Given the description of an element on the screen output the (x, y) to click on. 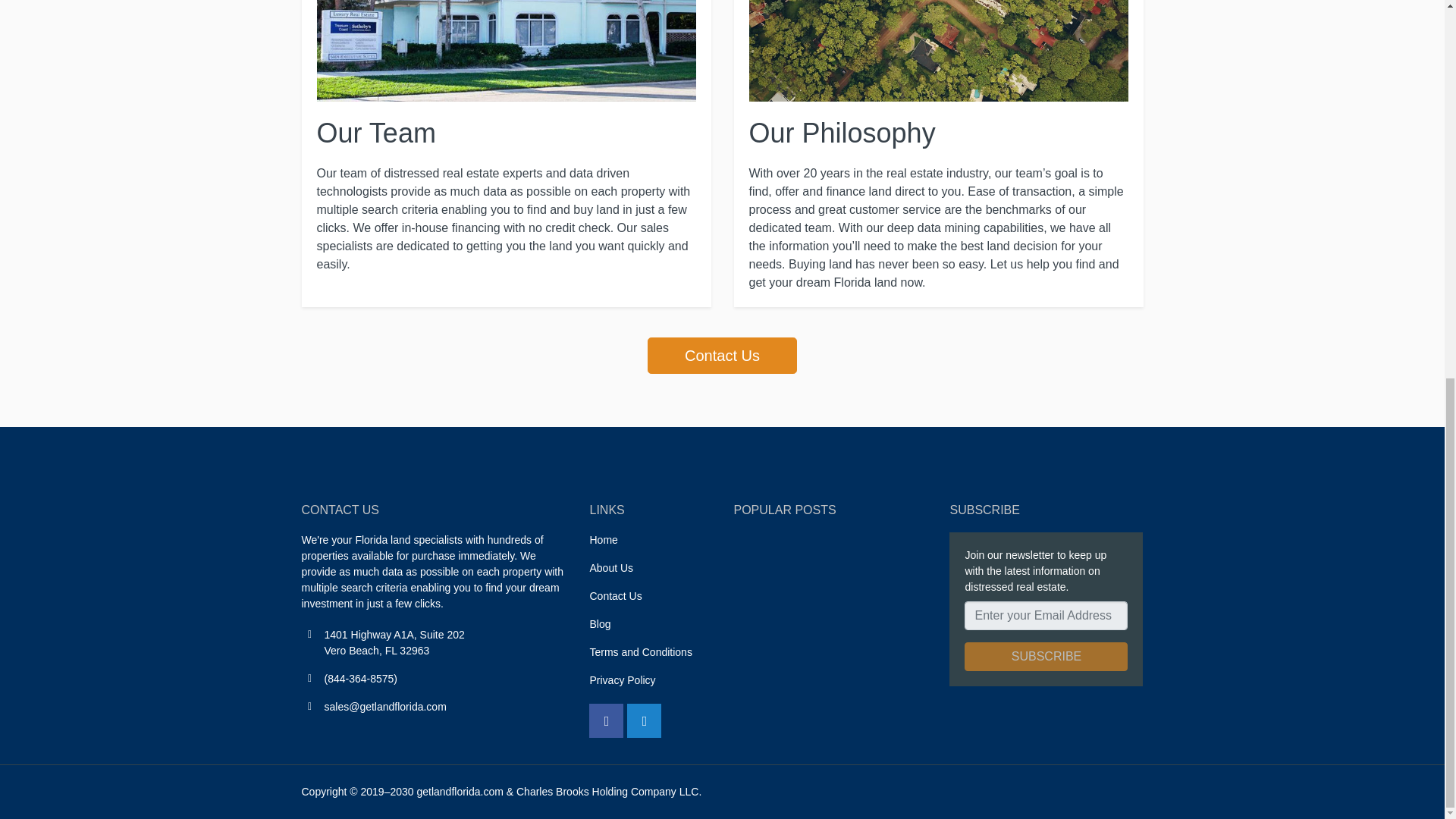
Facebook (606, 720)
LinkedIn (644, 720)
